Given the description of an element on the screen output the (x, y) to click on. 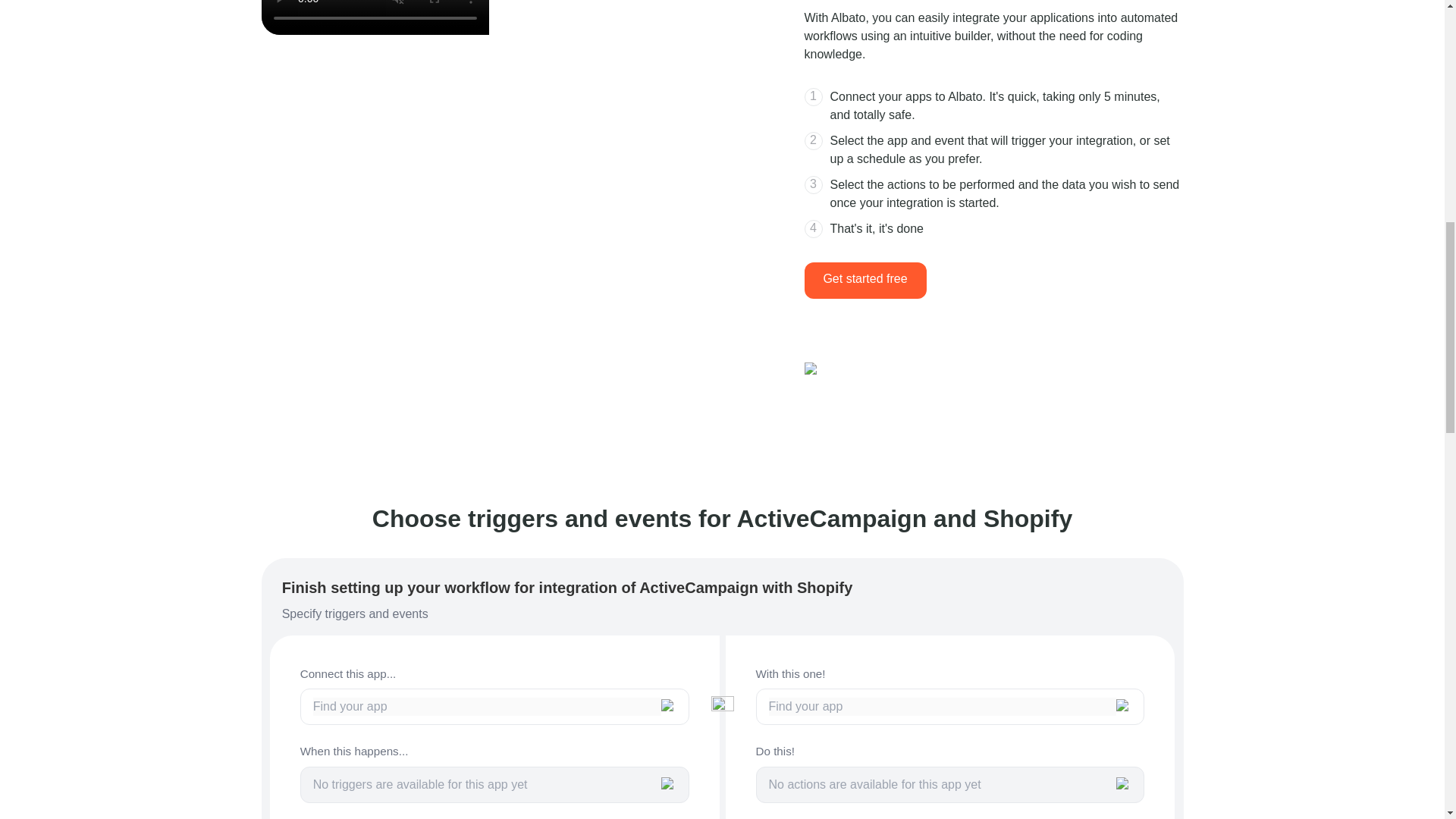
Get started free (864, 280)
